Given the description of an element on the screen output the (x, y) to click on. 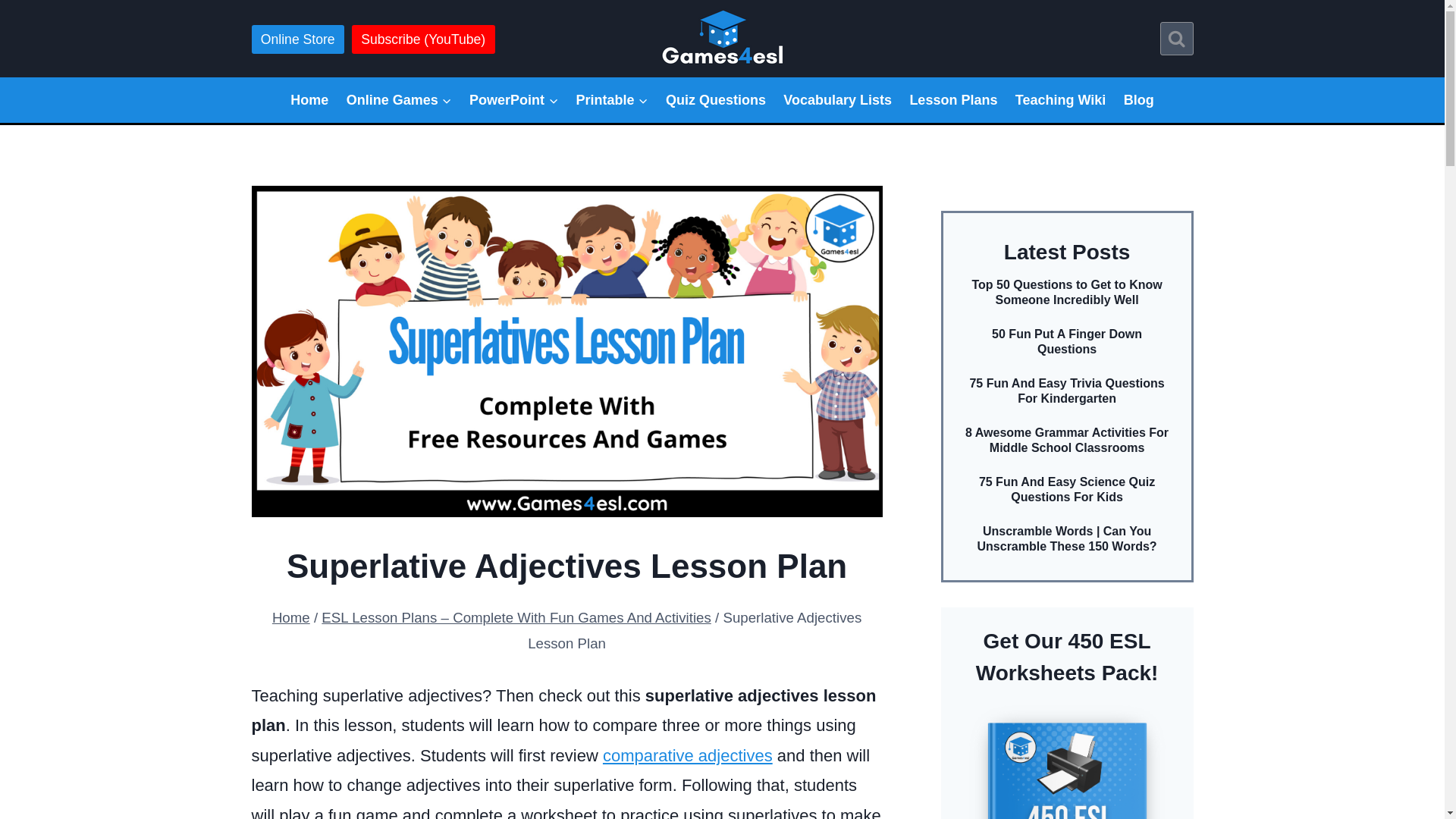
PowerPoint (513, 100)
Printable (611, 100)
Teaching Wiki (1060, 100)
comparative adjectives (687, 755)
Online Games (398, 100)
Blog (1138, 100)
Home (309, 100)
Quiz Questions (715, 100)
Online Store (297, 39)
Home (291, 617)
Vocabulary Lists (837, 100)
Lesson Plans (953, 100)
